Given the description of an element on the screen output the (x, y) to click on. 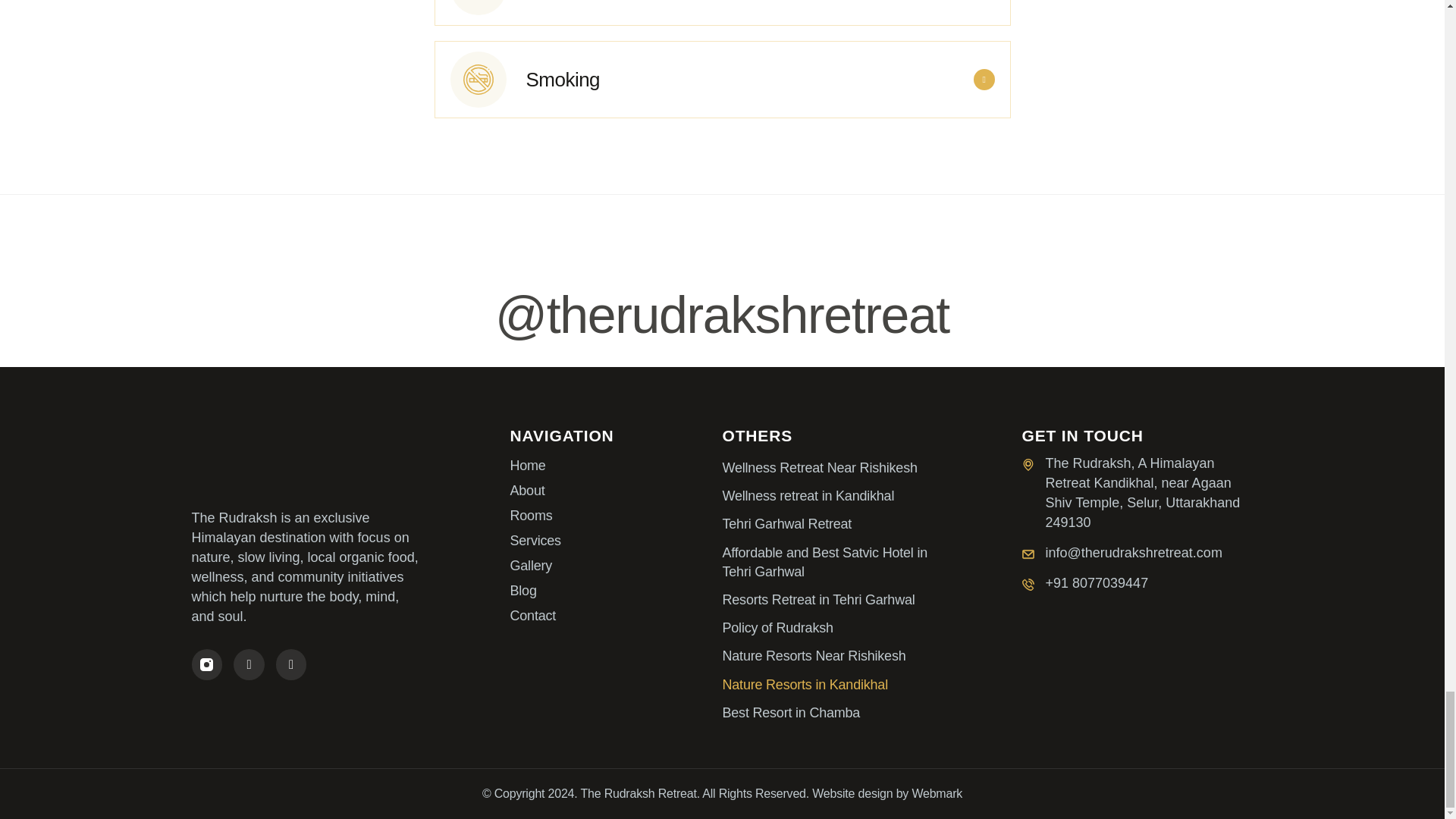
Rooms (615, 515)
About (615, 490)
Home (615, 465)
